Given the description of an element on the screen output the (x, y) to click on. 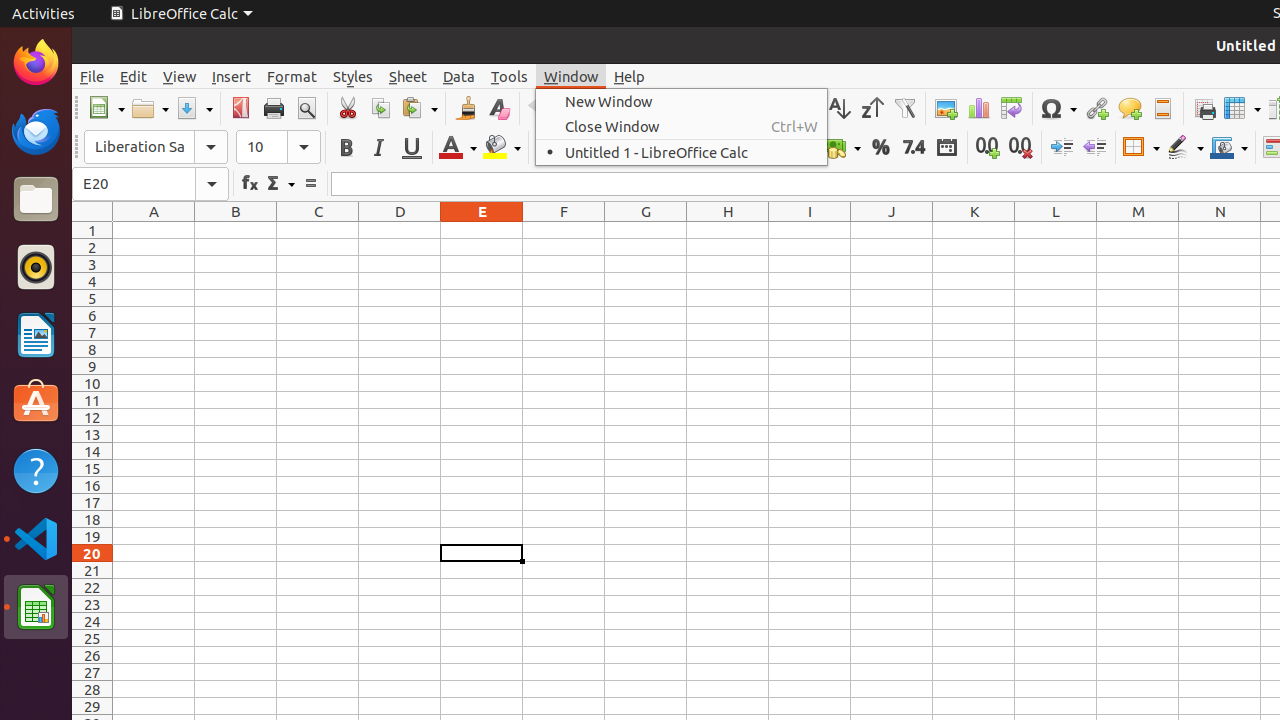
File Element type: menu (92, 76)
Copy Element type: push-button (380, 108)
PDF Element type: push-button (240, 108)
Number Element type: push-button (913, 147)
New Element type: push-button (106, 108)
